Given the description of an element on the screen output the (x, y) to click on. 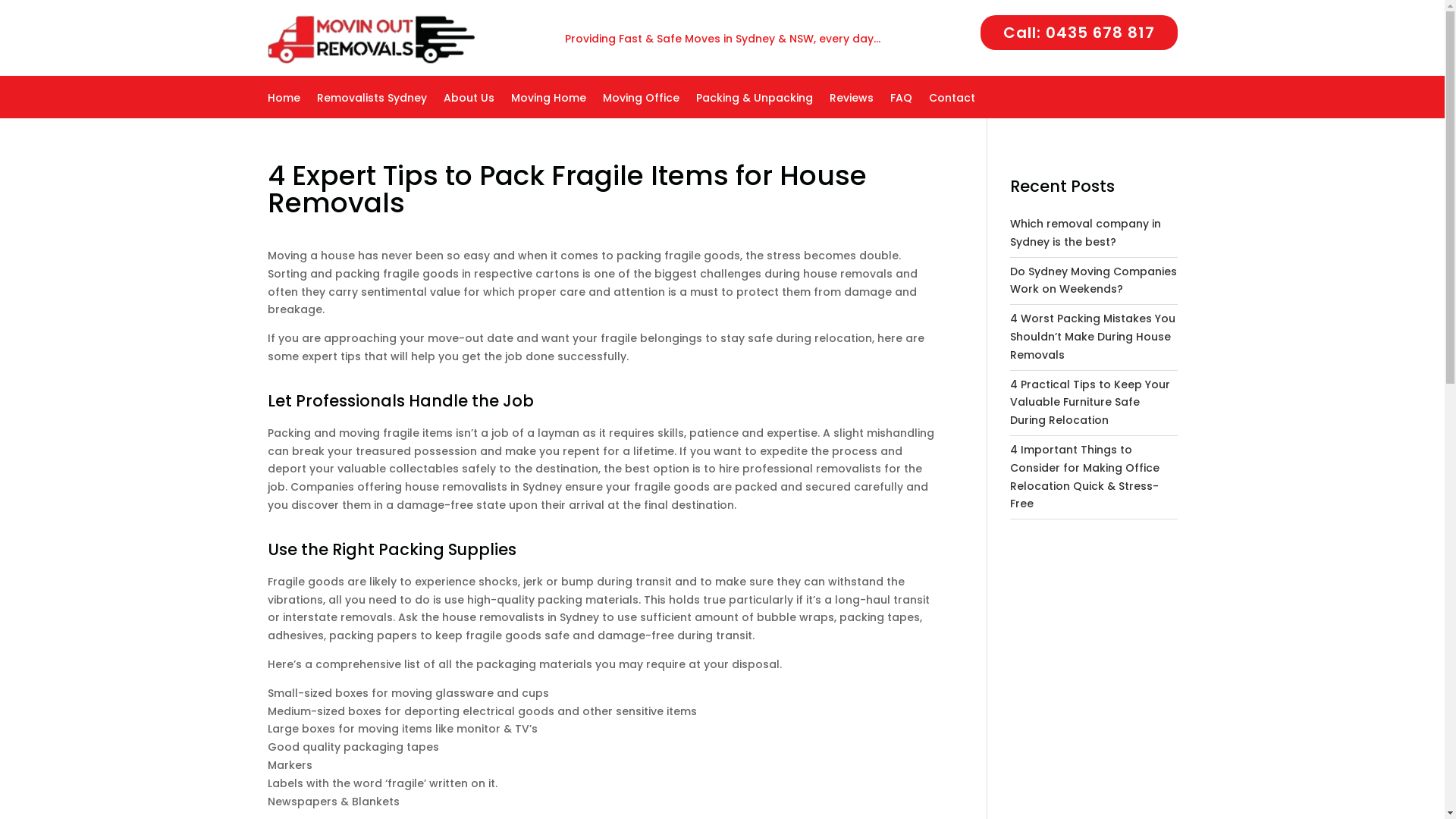
Which removal company in Sydney is the best? Element type: text (1085, 232)
Contact Element type: text (951, 105)
Removalists Sydney Element type: text (371, 105)
About Us Element type: text (467, 105)
Reviews Element type: text (851, 105)
Packing & Unpacking Element type: text (754, 105)
Do Sydney Moving Companies Work on Weekends? Element type: text (1093, 280)
Home Element type: text (282, 105)
Moving Home Element type: text (548, 105)
FAQ Element type: text (901, 105)
Movin Out Removals Element type: hover (369, 39)
Call: 0435 678 817 Element type: text (1077, 32)
Moving Office Element type: text (640, 105)
